Given the description of an element on the screen output the (x, y) to click on. 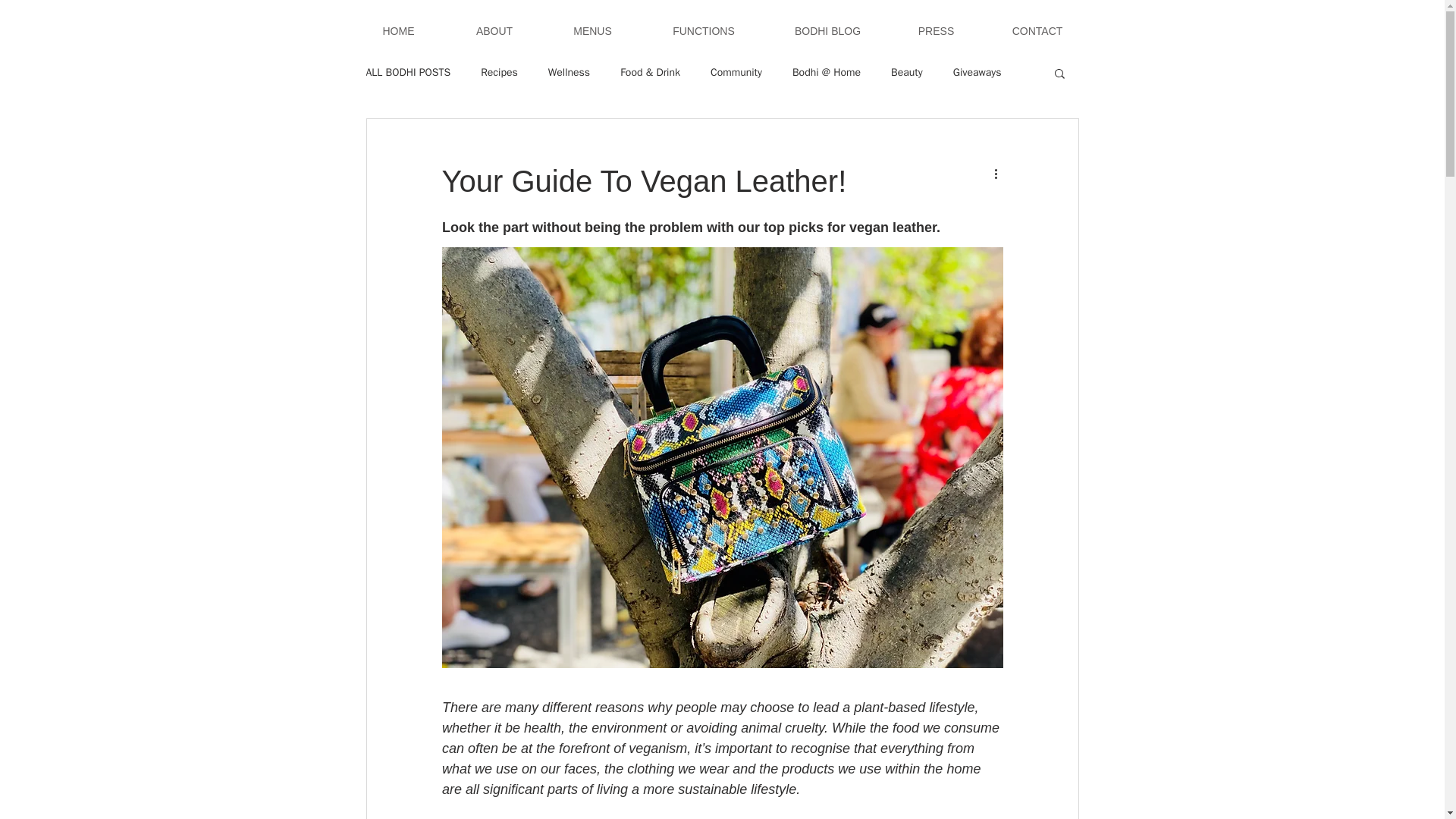
Community (735, 72)
PRESS (935, 31)
BODHI BLOG (826, 31)
HOME (397, 31)
Giveaways (977, 72)
MENUS (593, 31)
ABOUT (493, 31)
FUNCTIONS (704, 31)
Beauty (907, 72)
Recipes (499, 72)
